Given the description of an element on the screen output the (x, y) to click on. 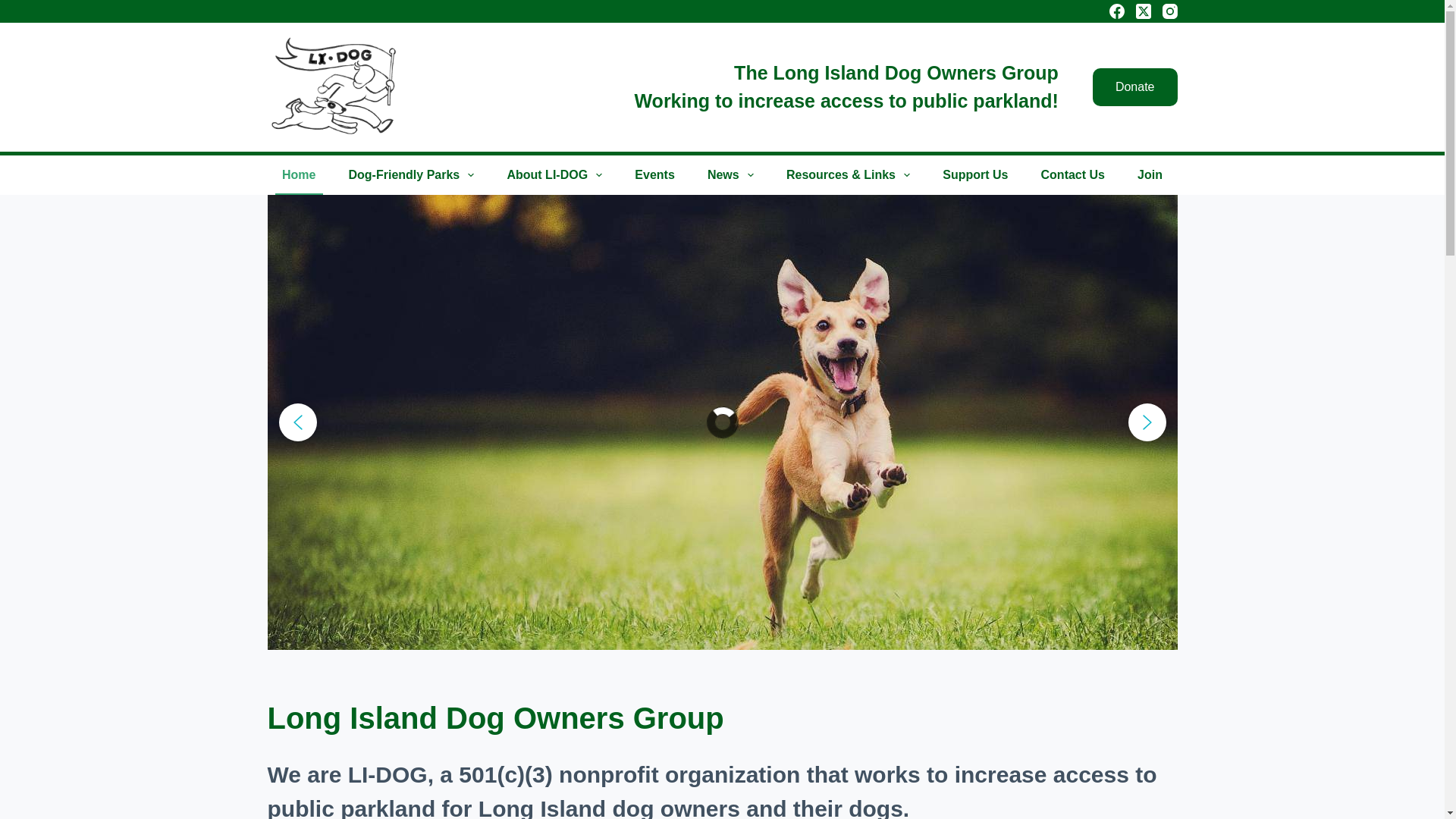
Dog-Friendly Parks (410, 174)
Donate (1135, 86)
Home (298, 174)
Skip to content (15, 7)
